Given the description of an element on the screen output the (x, y) to click on. 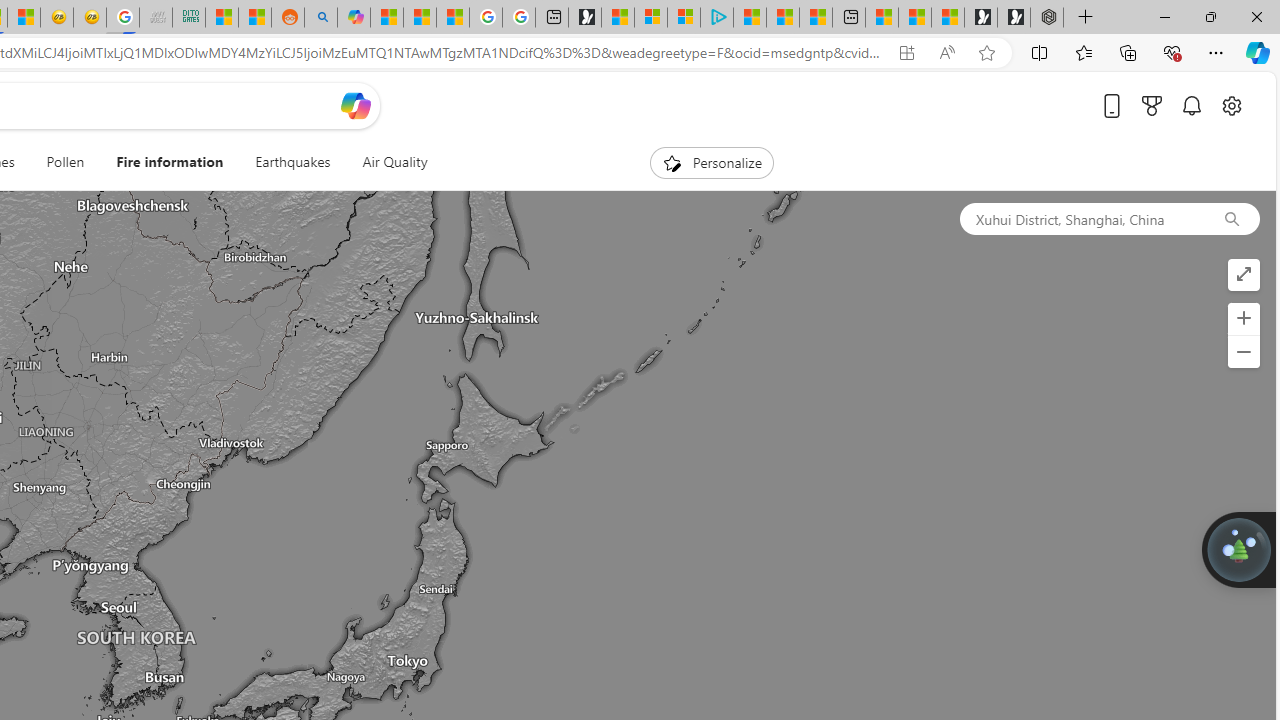
Microsoft Copilot in Bing (353, 17)
Join us in planting real trees to help our planet! (1239, 549)
Pollen (65, 162)
App available. Install Microsoft Start Weather (906, 53)
Enter full screen mode (1243, 274)
Fire information (169, 162)
